Given the description of an element on the screen output the (x, y) to click on. 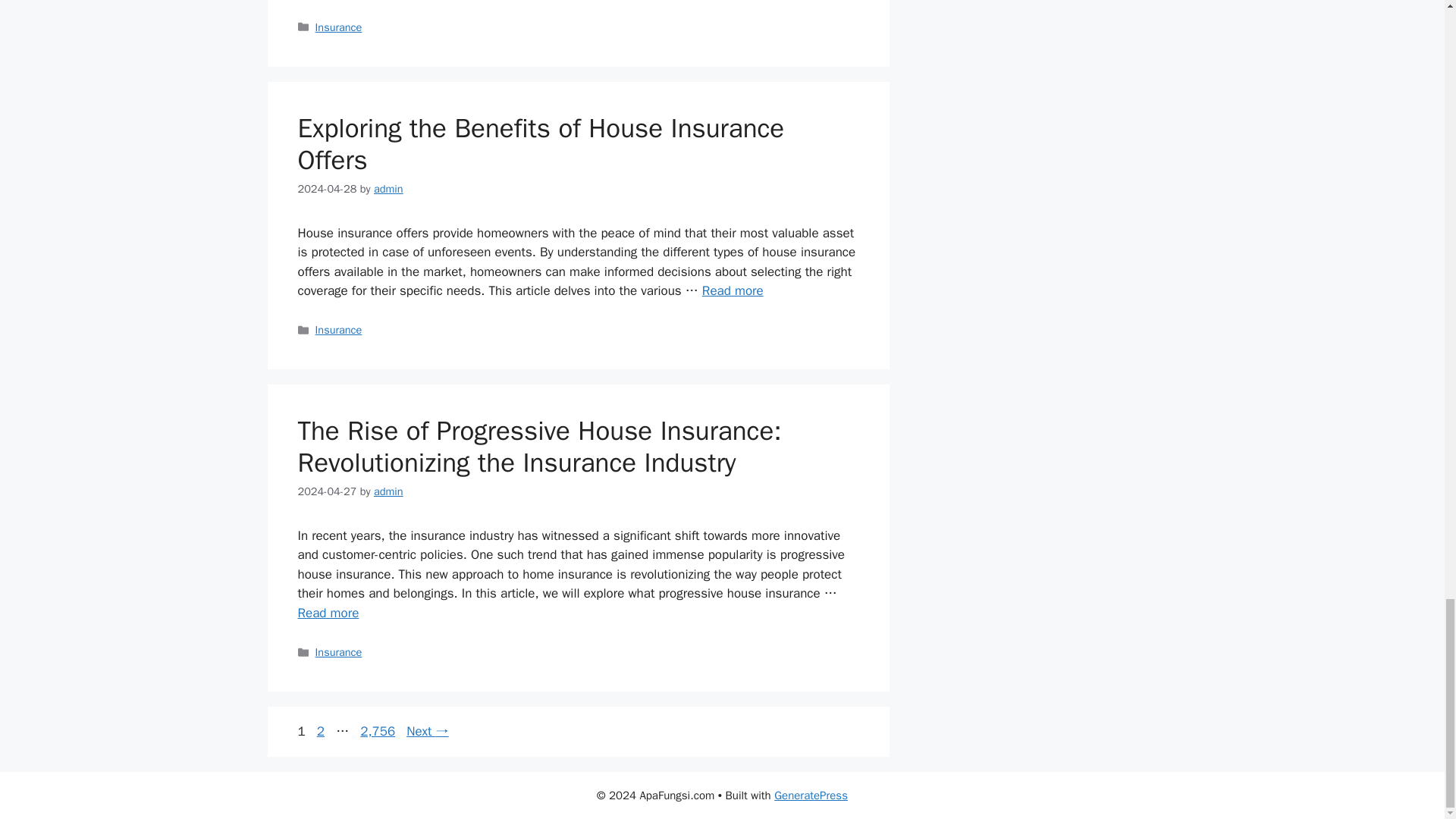
Exploring the Benefits of House Insurance Offers (731, 290)
View all posts by admin (388, 490)
View all posts by admin (388, 188)
